Given the description of an element on the screen output the (x, y) to click on. 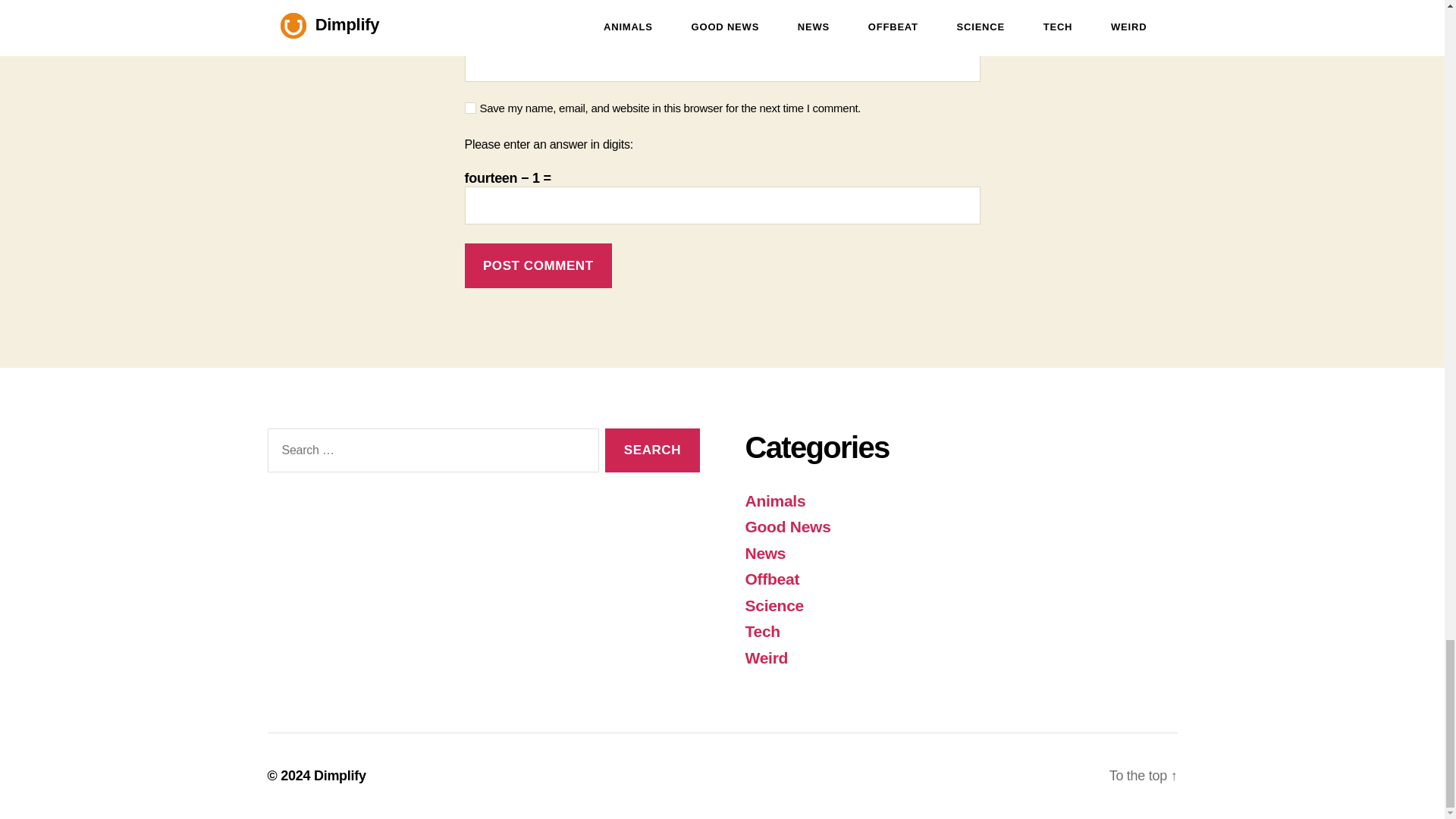
Dimplify (340, 775)
News (765, 552)
Offbeat (771, 579)
Search (651, 450)
Animals (774, 500)
Search (651, 450)
Search (651, 450)
Post Comment (537, 265)
Post Comment (537, 265)
Science (773, 605)
